Given the description of an element on the screen output the (x, y) to click on. 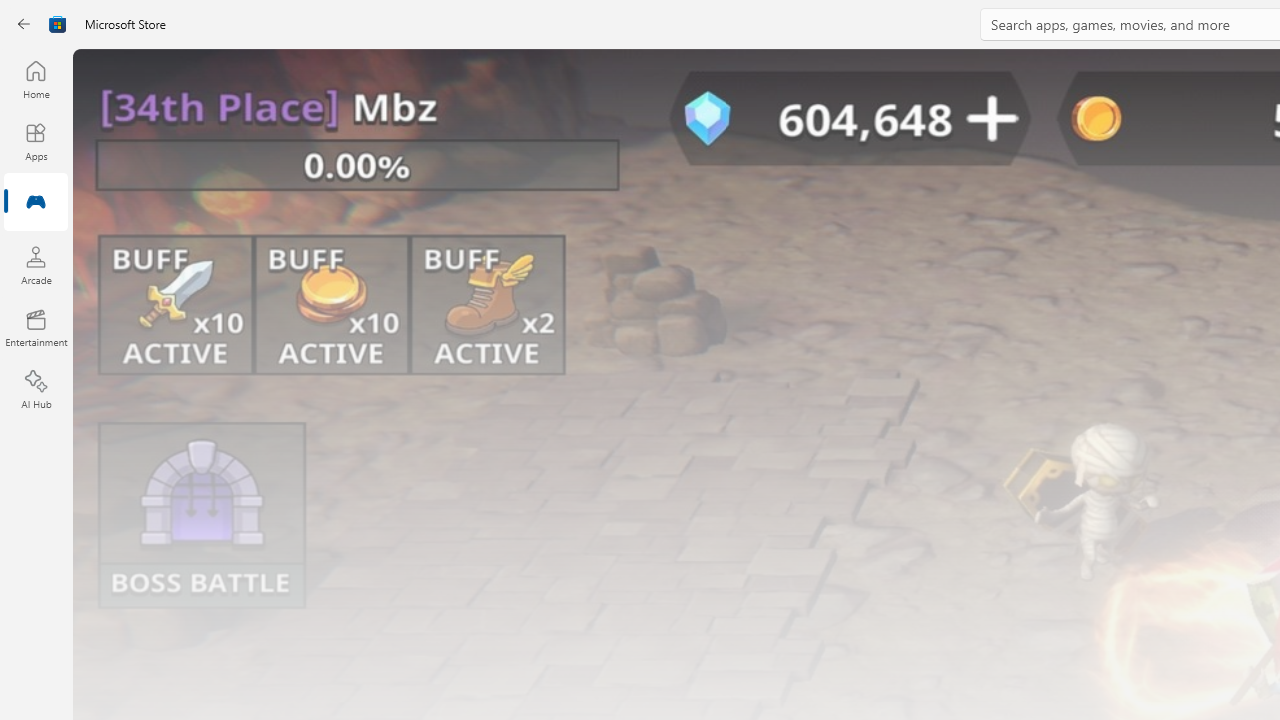
Back (24, 24)
